Given the description of an element on the screen output the (x, y) to click on. 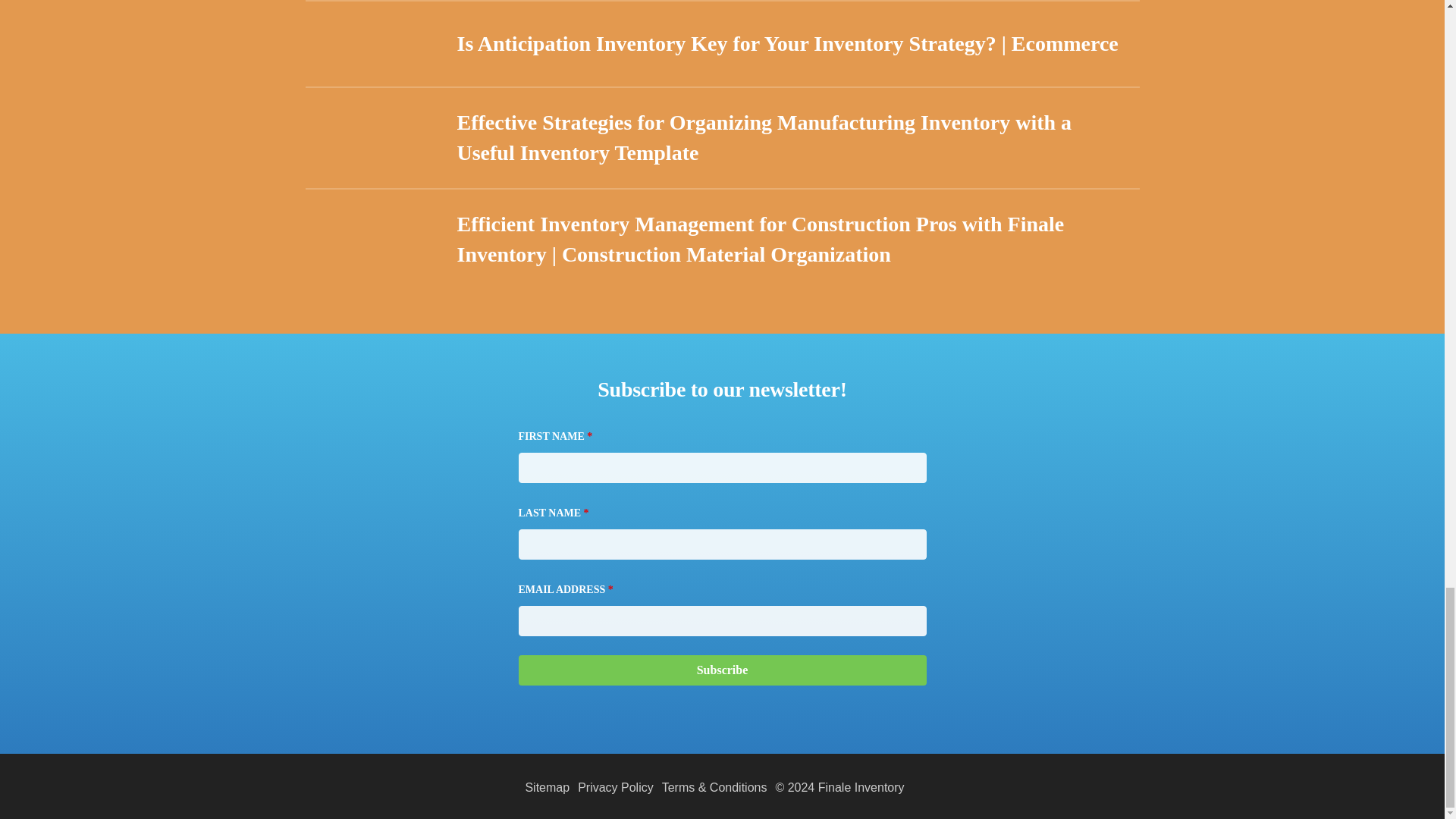
Subscribe (722, 670)
Subscribe (722, 670)
